Given the description of an element on the screen output the (x, y) to click on. 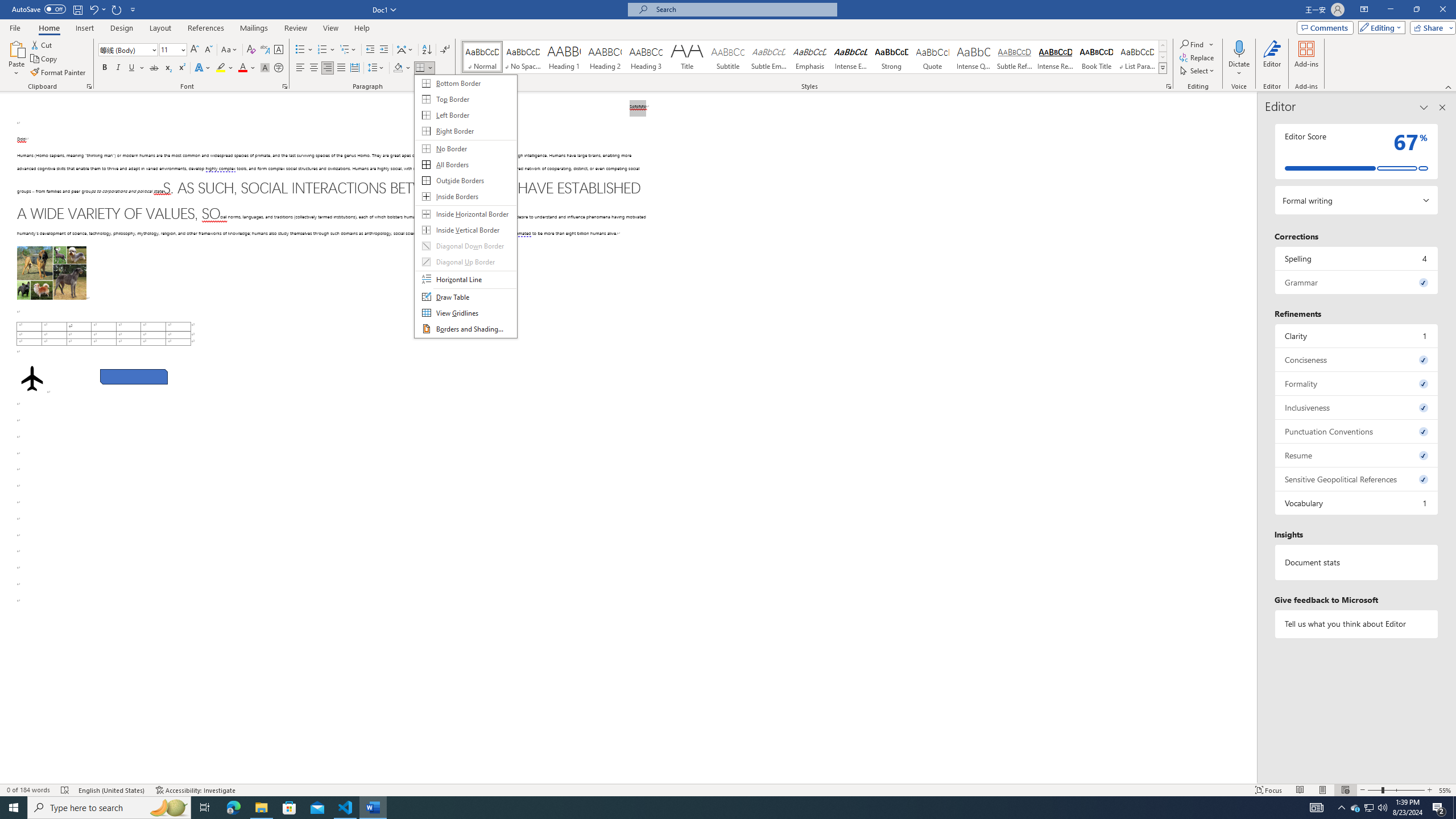
Numbering (322, 49)
Airplane with solid fill (31, 378)
Morphological variation in six dogs (51, 272)
Editor (1272, 58)
Decrease Indent (370, 49)
Font (128, 49)
Formality, 0 issues. Press space or enter to review items. (1356, 383)
Intense Emphasis (849, 56)
Find (1192, 44)
Microsoft Store (289, 807)
Shading RGB(0, 0, 0) (397, 67)
Line and Paragraph Spacing (376, 67)
User Promoted Notification Area (1368, 807)
Heading 3 (646, 56)
